Given the description of an element on the screen output the (x, y) to click on. 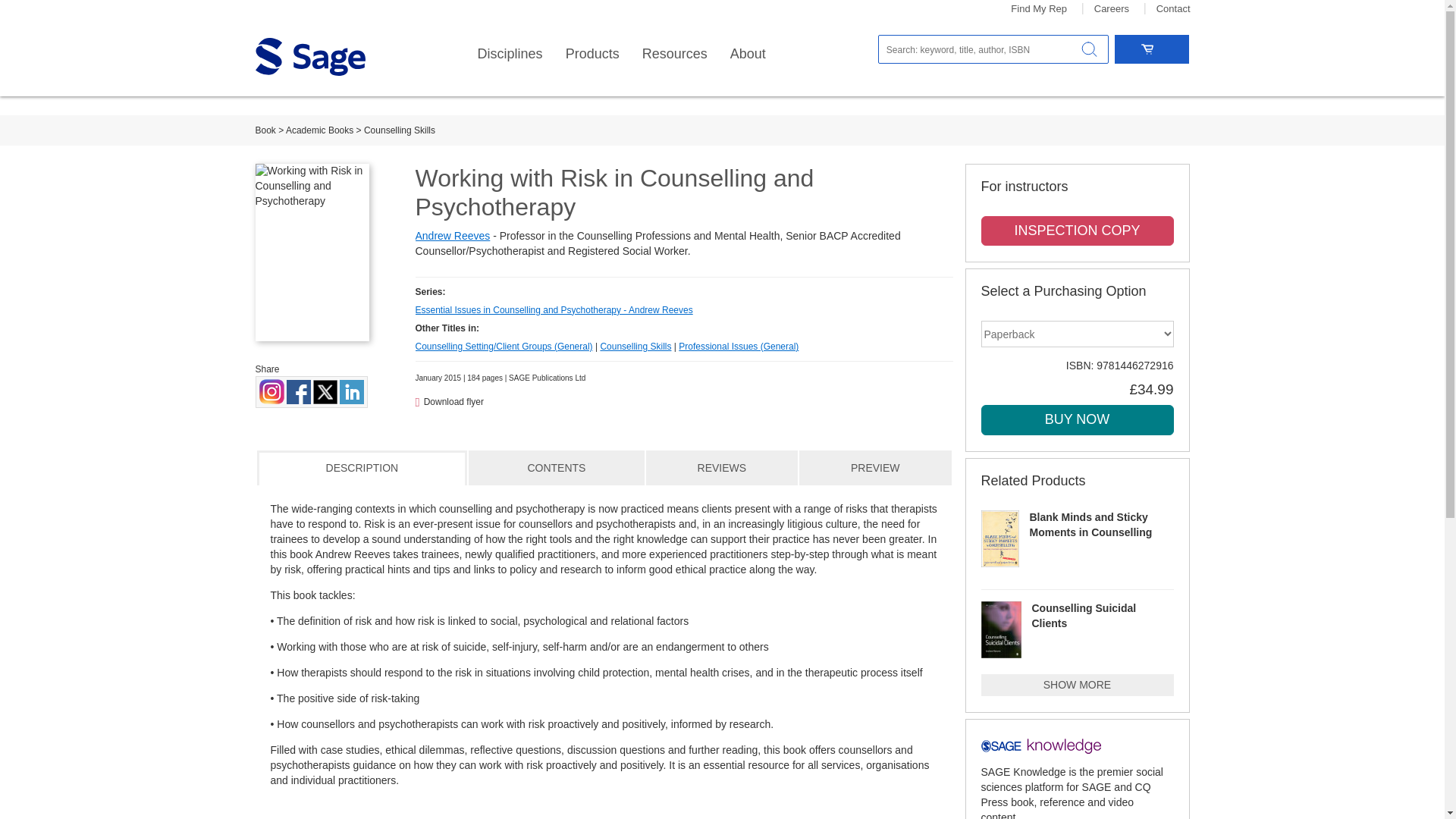
Careers (1111, 8)
Sage logo: link back to homepage (309, 56)
Contact (1173, 8)
Find My Rep (1038, 8)
Buy now (1077, 419)
Search (1089, 48)
Disciplines (509, 53)
Inspection Copy (1077, 231)
